Given the description of an element on the screen output the (x, y) to click on. 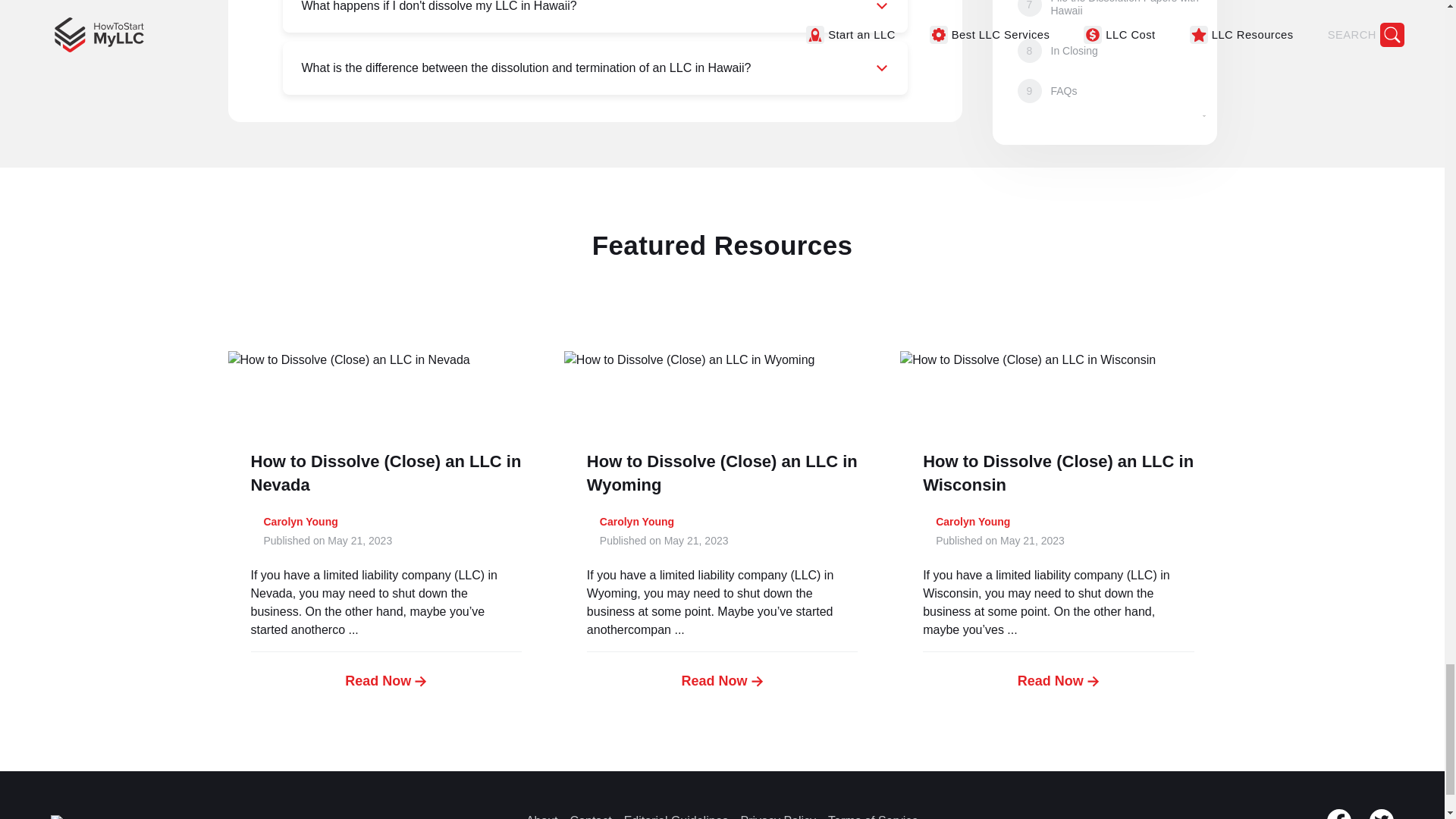
Privacy Policy (778, 816)
Contact (590, 816)
Terms of Service (873, 816)
Editorial Guidelines (676, 816)
About (541, 816)
